Given the description of an element on the screen output the (x, y) to click on. 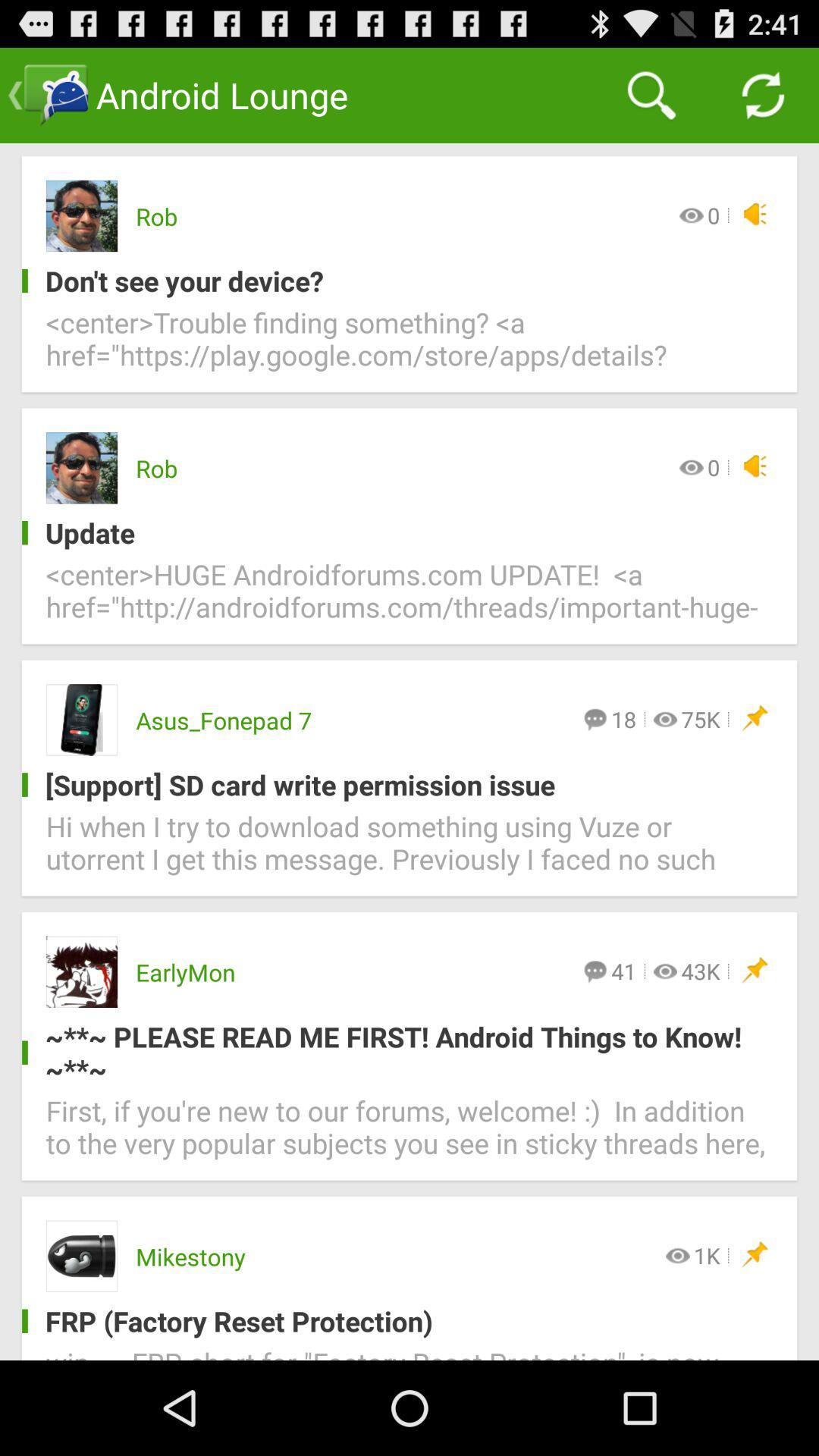
tap the 1k app (706, 1255)
